Given the description of an element on the screen output the (x, y) to click on. 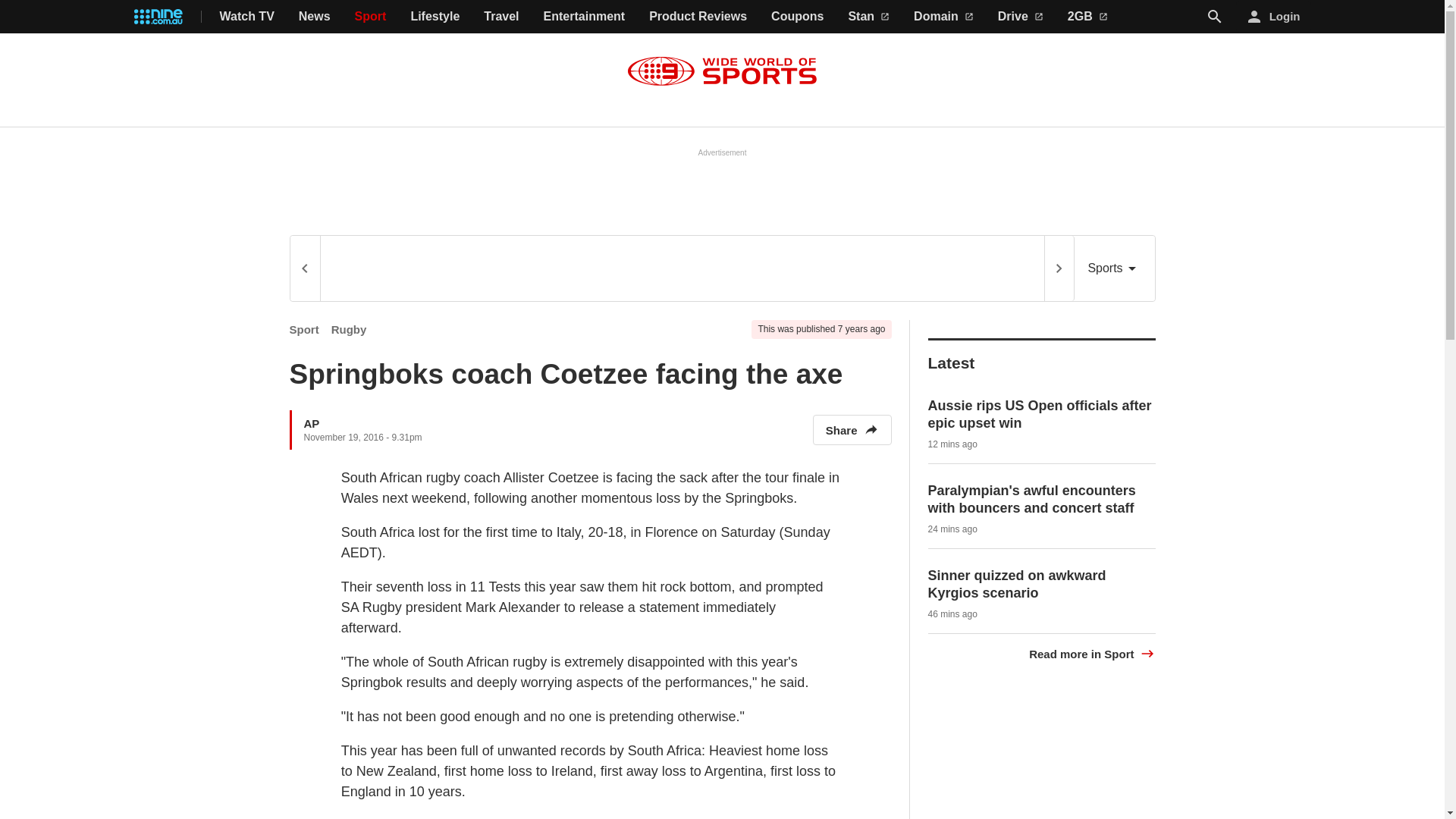
Login (1273, 16)
Sport (371, 16)
Sinner quizzed on awkward Kyrgios scenario (1017, 584)
Watch TV (247, 16)
Search (1214, 16)
Product Reviews (697, 16)
Coupons (797, 16)
News (314, 16)
Share (851, 429)
2GB (1087, 16)
